Given the description of an element on the screen output the (x, y) to click on. 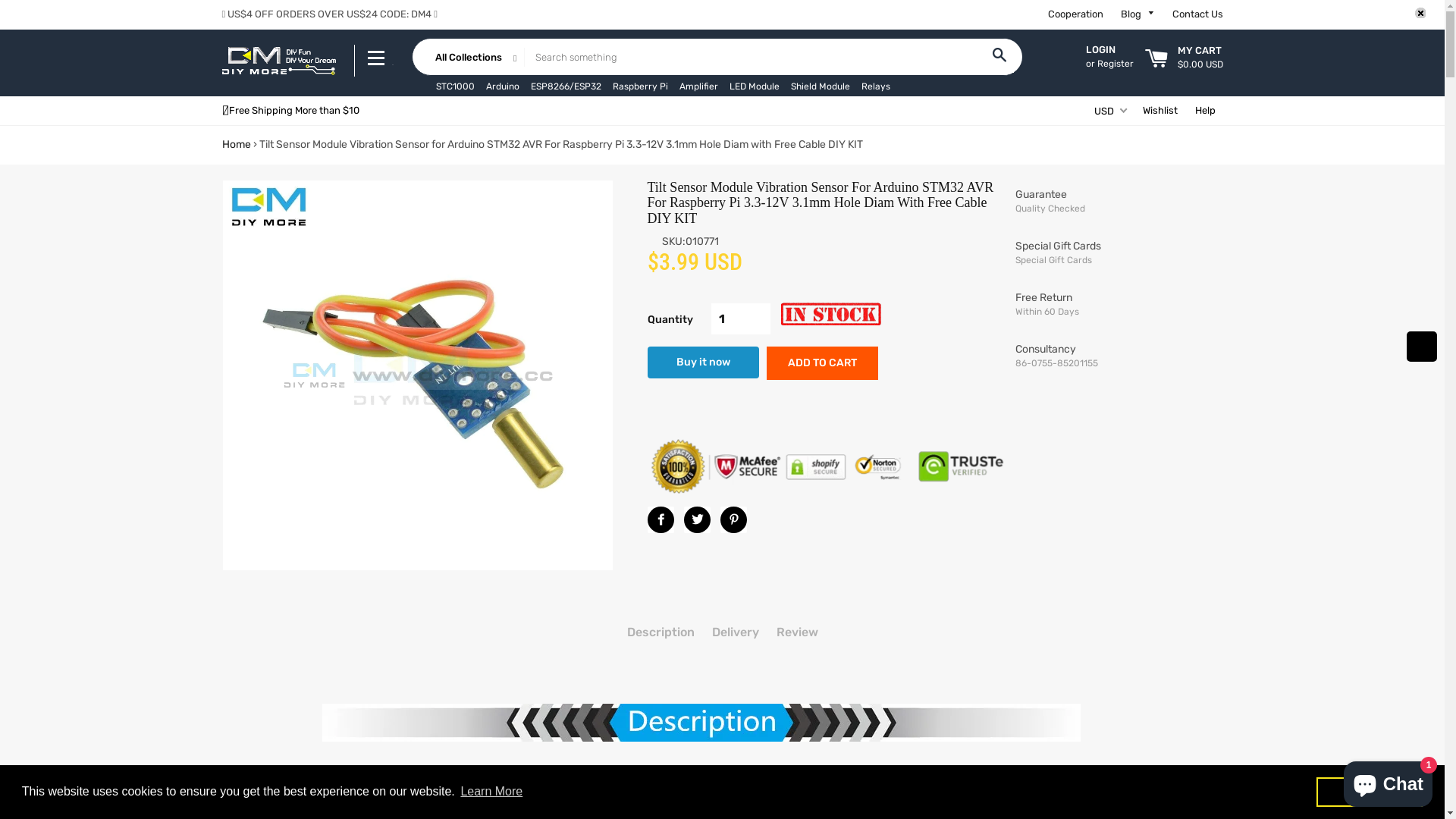
Arduino Element type: text (501, 86)
Amplifier Element type: text (698, 86)
LOGIN
or Register Element type: text (1103, 57)
MY CART
$0.00 USD Element type: text (1184, 60)
Delivery Element type: text (734, 632)
Search Element type: text (999, 56)
Home Element type: text (235, 144)
ESP8266/ESP32 Element type: text (565, 86)
Description Element type: text (659, 632)
Raspberry Pi Element type: text (640, 86)
Review Element type: text (797, 632)
Share on Facebook Element type: text (660, 519)
Wishlist Element type: text (1159, 110)
Pin on Pinterest Element type: text (733, 519)
Buy it now Element type: text (703, 362)
Shopify online store chat Element type: hover (1388, 780)
LED Module Element type: text (754, 86)
Blog Element type: text (1137, 14)
Help Element type: text (1205, 110)
Cooperation Element type: text (1075, 14)
Wishlist Element type: hover (1421, 346)
STC1000 Element type: text (454, 86)
Relays Element type: text (875, 86)
Contact Us Element type: text (1197, 14)
Tweet on Twitter Element type: text (697, 519)
ADD TO CART Element type: text (822, 362)
Shield Module Element type: text (819, 86)
